Given the description of an element on the screen output the (x, y) to click on. 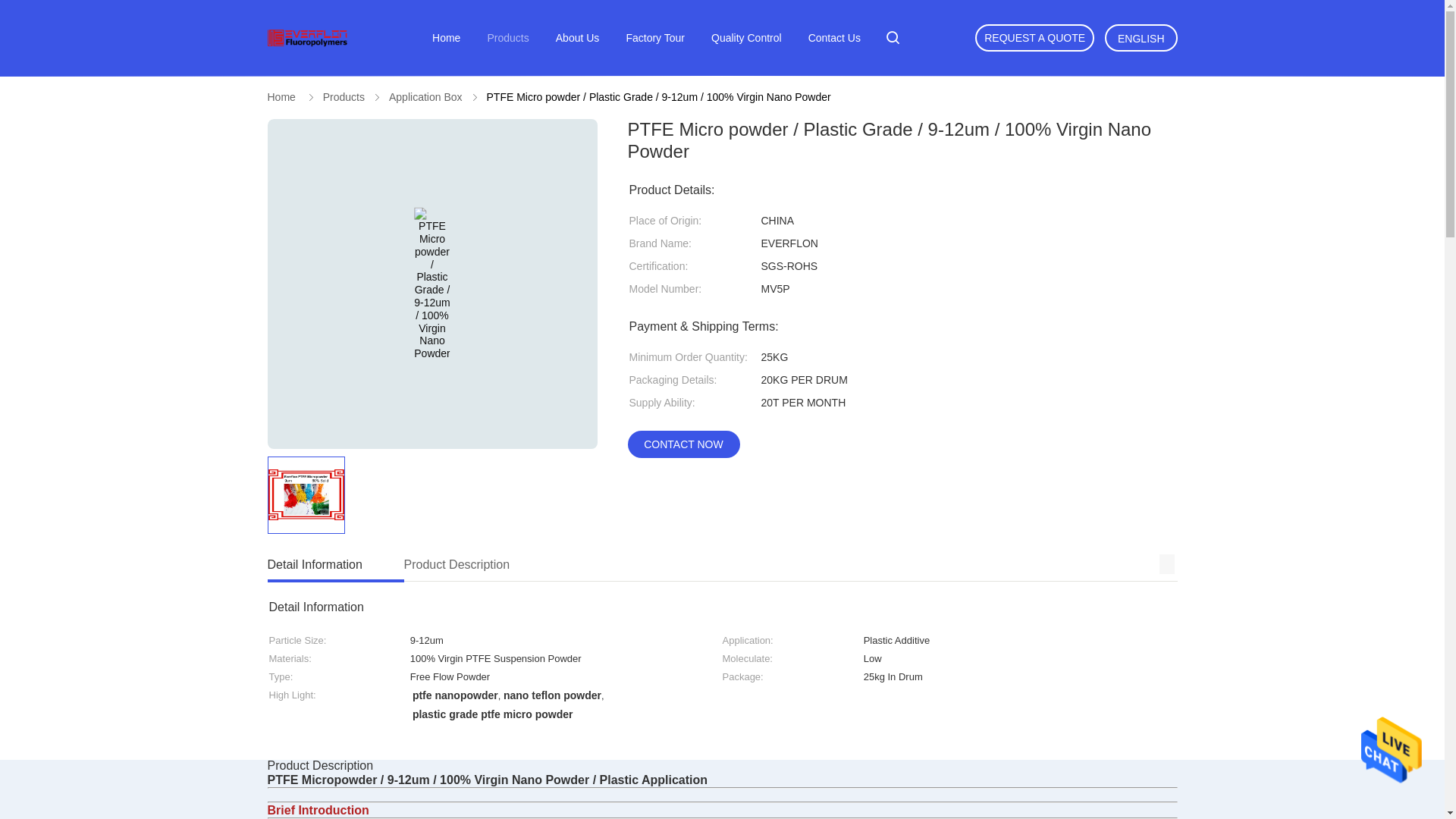
Contact Us (834, 37)
About Us (577, 37)
REQUEST A QUOTE (1034, 37)
Home (280, 96)
Home (446, 37)
Quality Control (746, 37)
Application Box (425, 96)
Factory Tour (655, 37)
Products (676, 565)
